Given the description of an element on the screen output the (x, y) to click on. 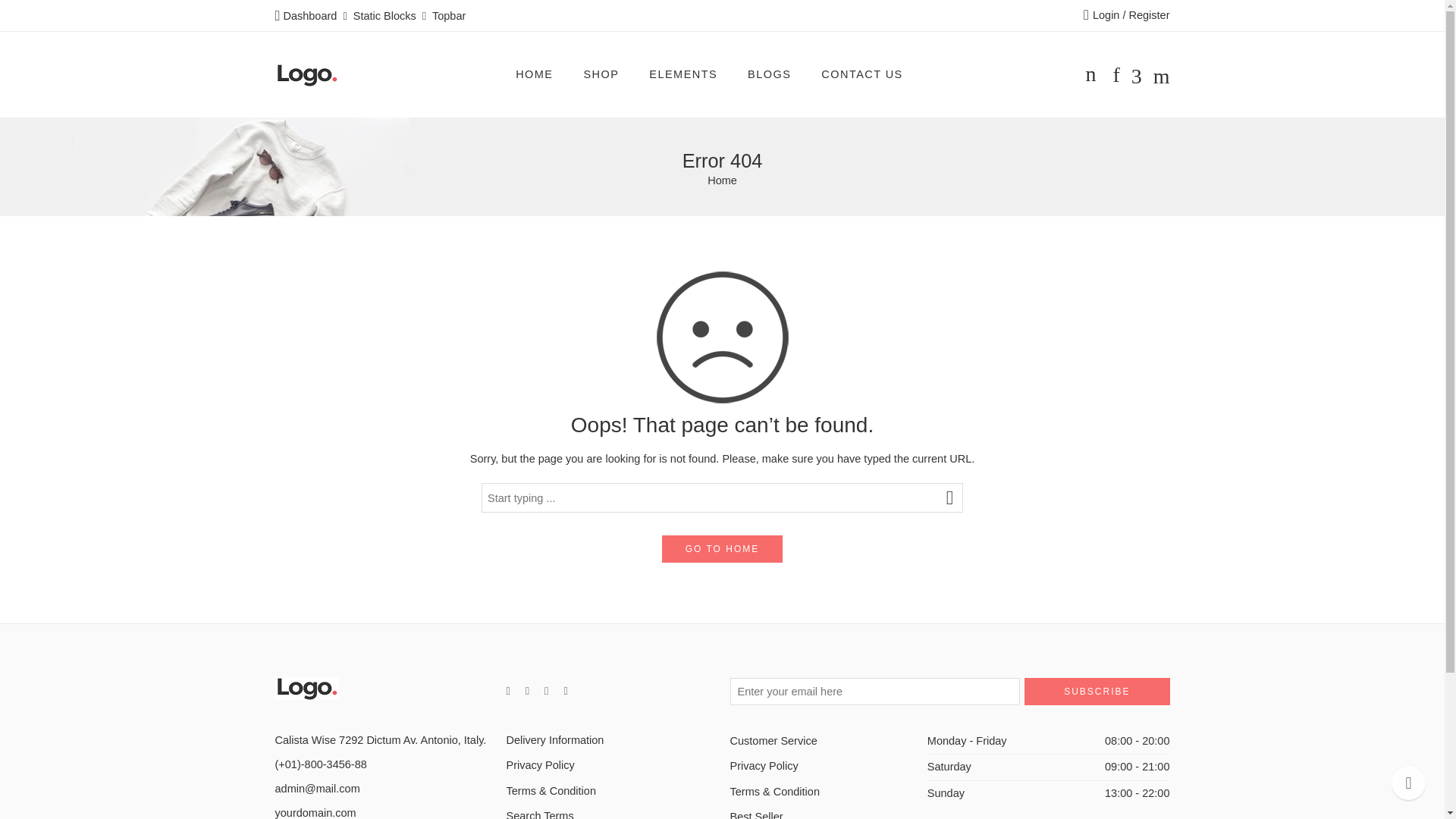
CONTACT US (861, 74)
yourdomain.com (315, 812)
Home (721, 180)
GO TO HOME (722, 548)
Privacy Policy (610, 765)
CONTACT US (861, 74)
SUBSCRIBE (1097, 691)
Email (317, 788)
Customer Service (827, 740)
yourdomain.com (315, 812)
